Given the description of an element on the screen output the (x, y) to click on. 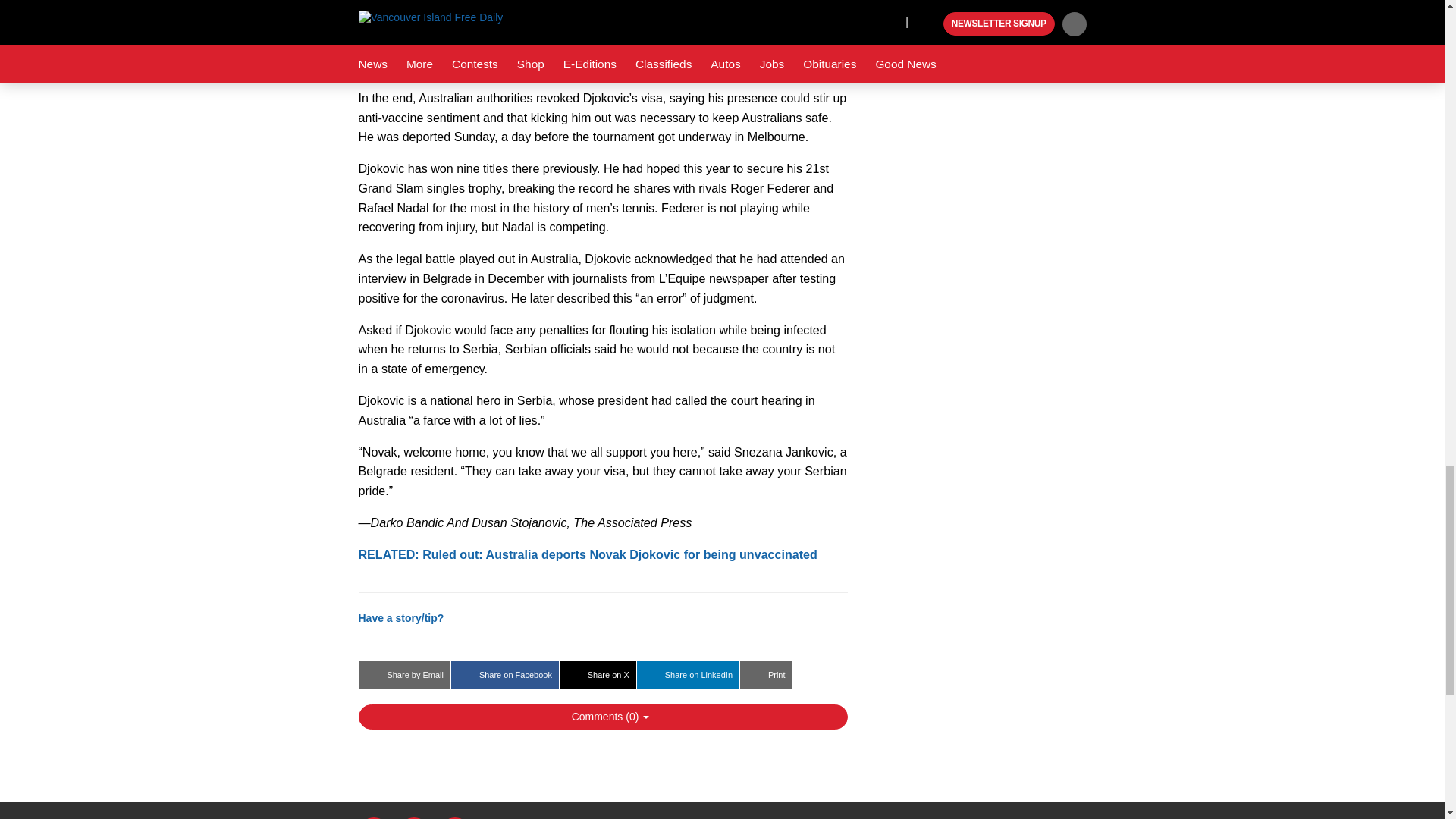
Show Comments (602, 716)
X (413, 818)
related story (587, 554)
Instagram (454, 818)
Facebook (373, 818)
